Given the description of an element on the screen output the (x, y) to click on. 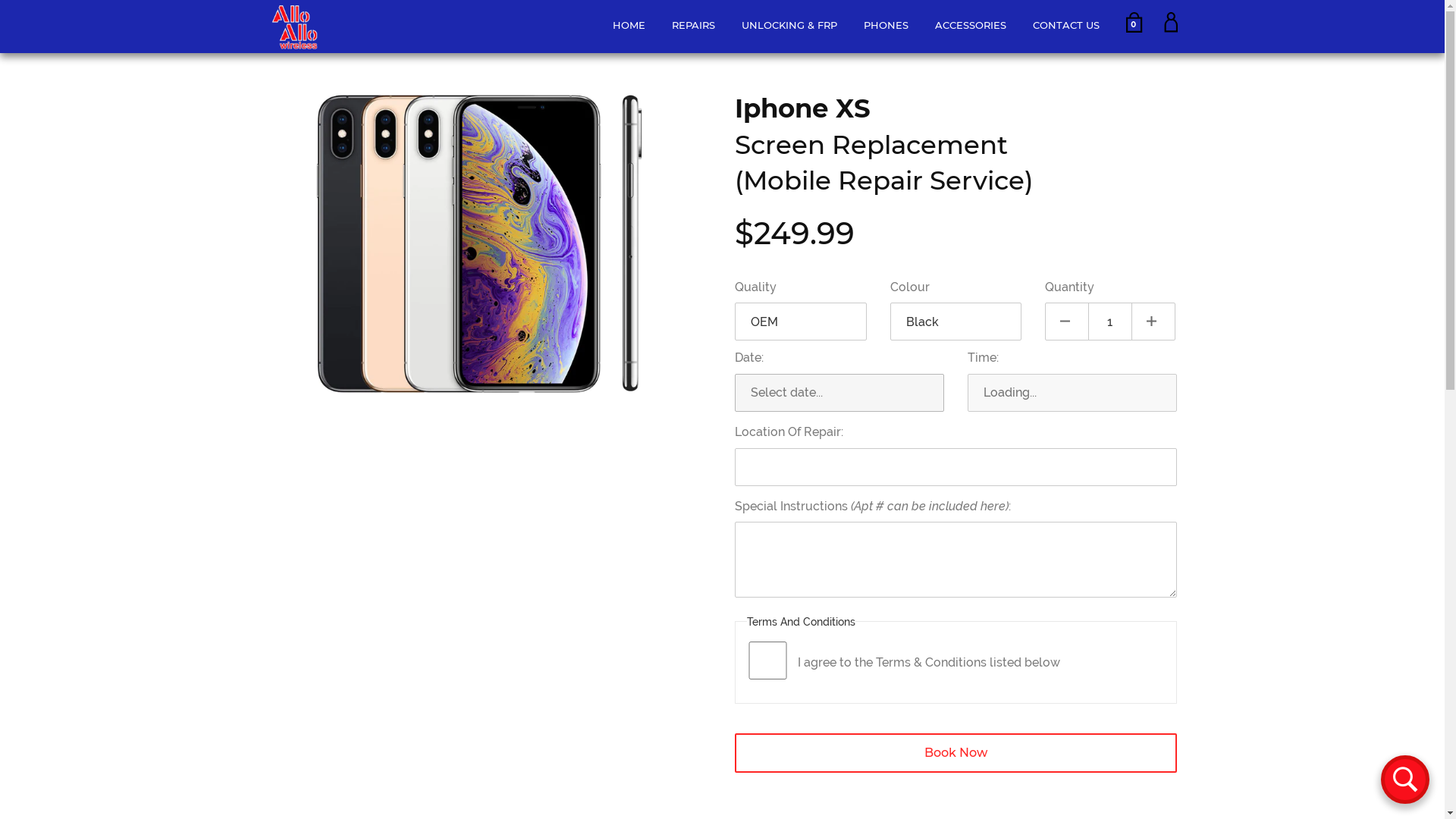
HOME Element type: text (630, 24)
REPAIRS Element type: text (694, 24)
0
Shopping Cart Element type: text (1132, 23)
Book Now Element type: text (955, 751)
UNLOCKING & FRP Element type: text (790, 24)
CONTACT US Element type: text (1067, 24)
My Account Element type: text (1169, 28)
PHONES Element type: text (886, 24)
ACCESSORIES Element type: text (971, 24)
